Given the description of an element on the screen output the (x, y) to click on. 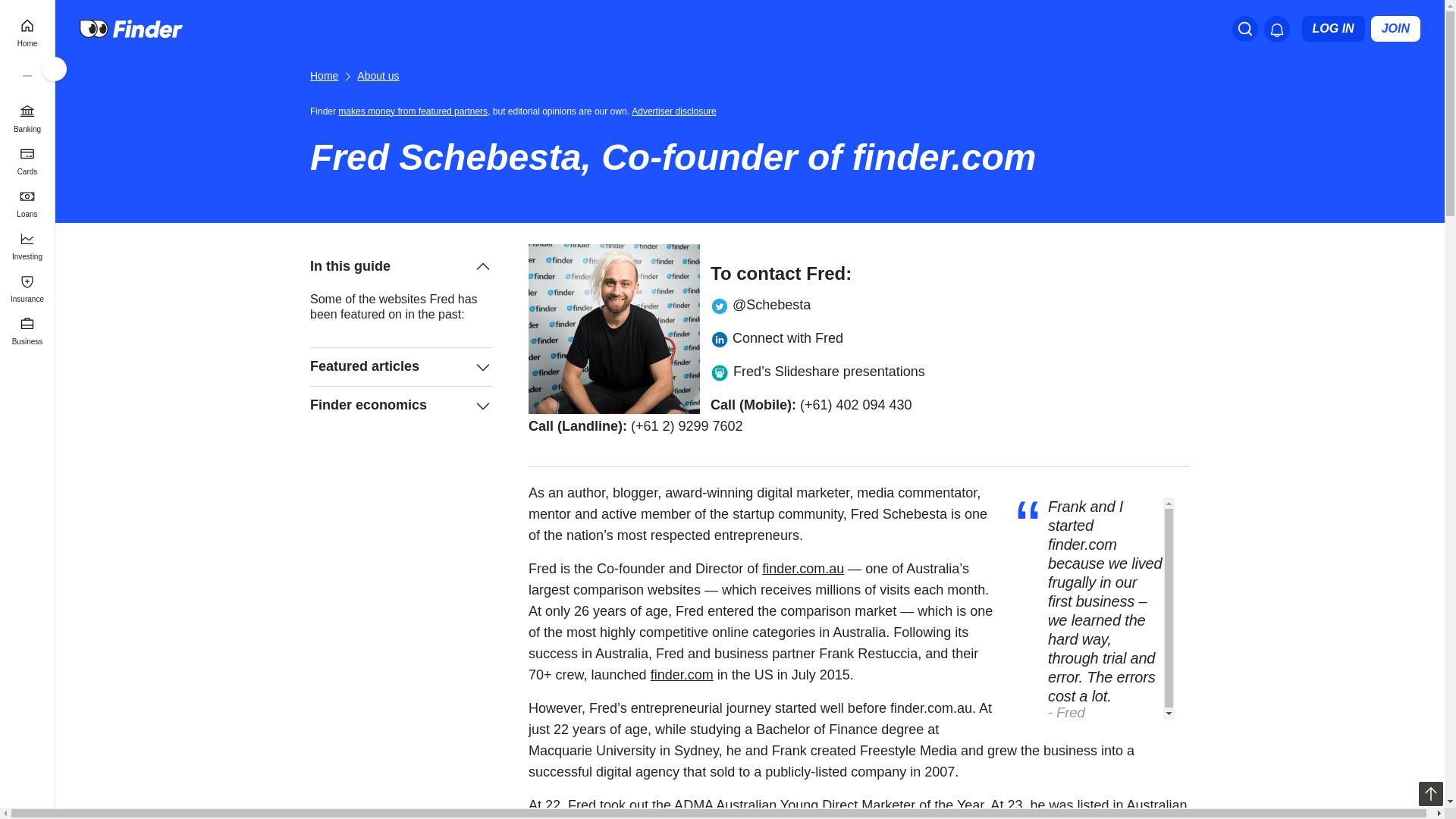
Back to Top (1430, 793)
Fred on LinkedIn (719, 337)
Fred's Twitter (719, 304)
Image: Finder (614, 329)
Fred on Slideshare (719, 371)
